Given the description of an element on the screen output the (x, y) to click on. 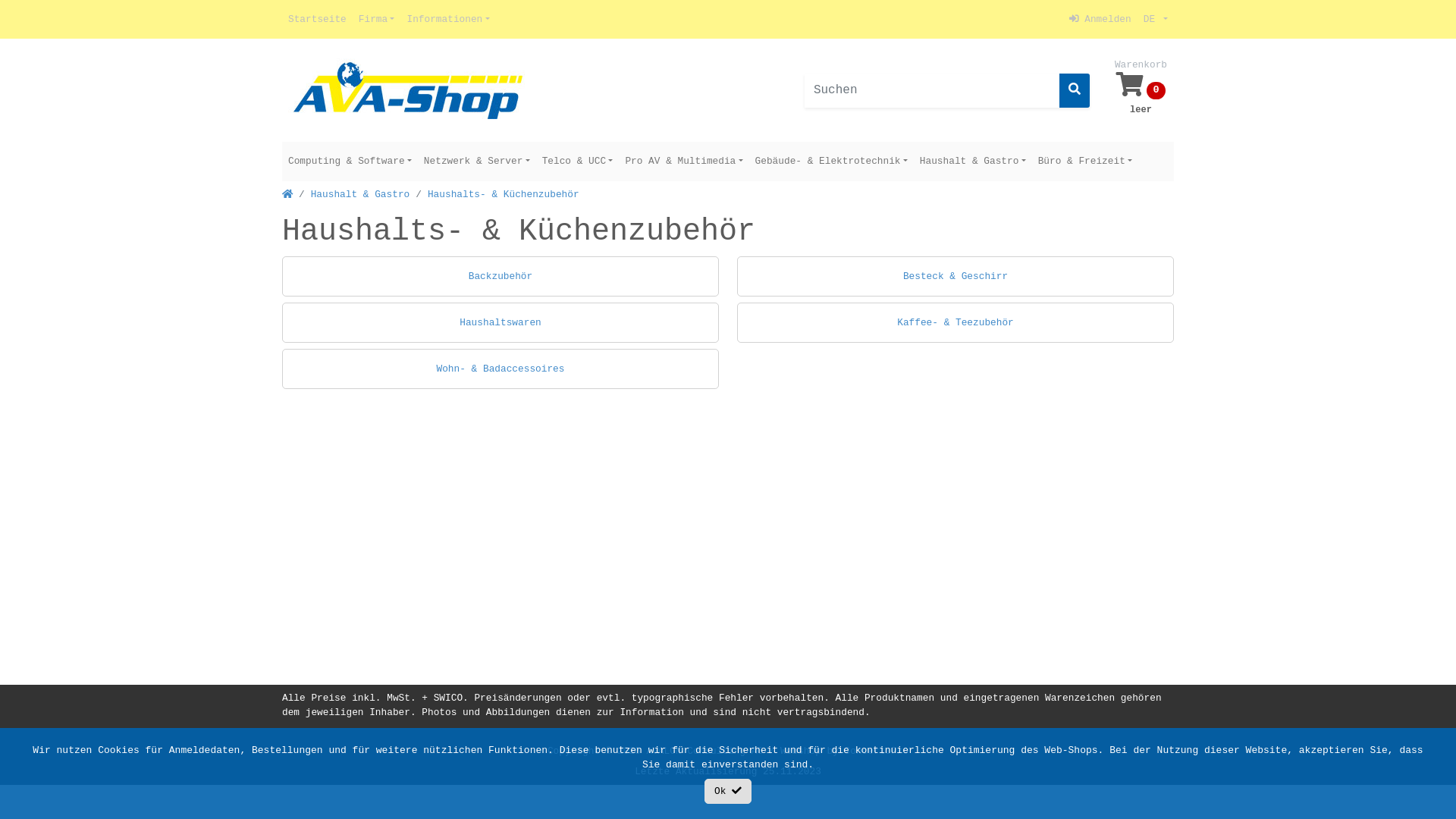
Ok Element type: text (727, 790)
Startseite Element type: text (317, 19)
DE Element type: text (1155, 19)
Telco & UCC Element type: text (577, 160)
Pro AV & Multimedia Element type: text (683, 160)
Warenkorb
0
leer Element type: text (1140, 89)
Haushalt & Gastro Element type: text (360, 194)
Computing & Software Element type: text (349, 160)
Haushalt & Gastro Element type: text (972, 160)
Firma Element type: text (376, 19)
Haushaltswaren Element type: text (500, 322)
AVALON Consulting AG Element type: text (704, 750)
Webshop Element type: text (800, 750)
Netzwerk & Server Element type: text (476, 160)
Wohn- & Badaccessoires Element type: text (500, 368)
Anmelden Element type: text (1100, 19)
Suche Element type: hover (1074, 90)
Besteck & Geschirr Element type: text (955, 276)
Informationen Element type: text (447, 19)
ConcertoPro Element type: text (876, 750)
